Given the description of an element on the screen output the (x, y) to click on. 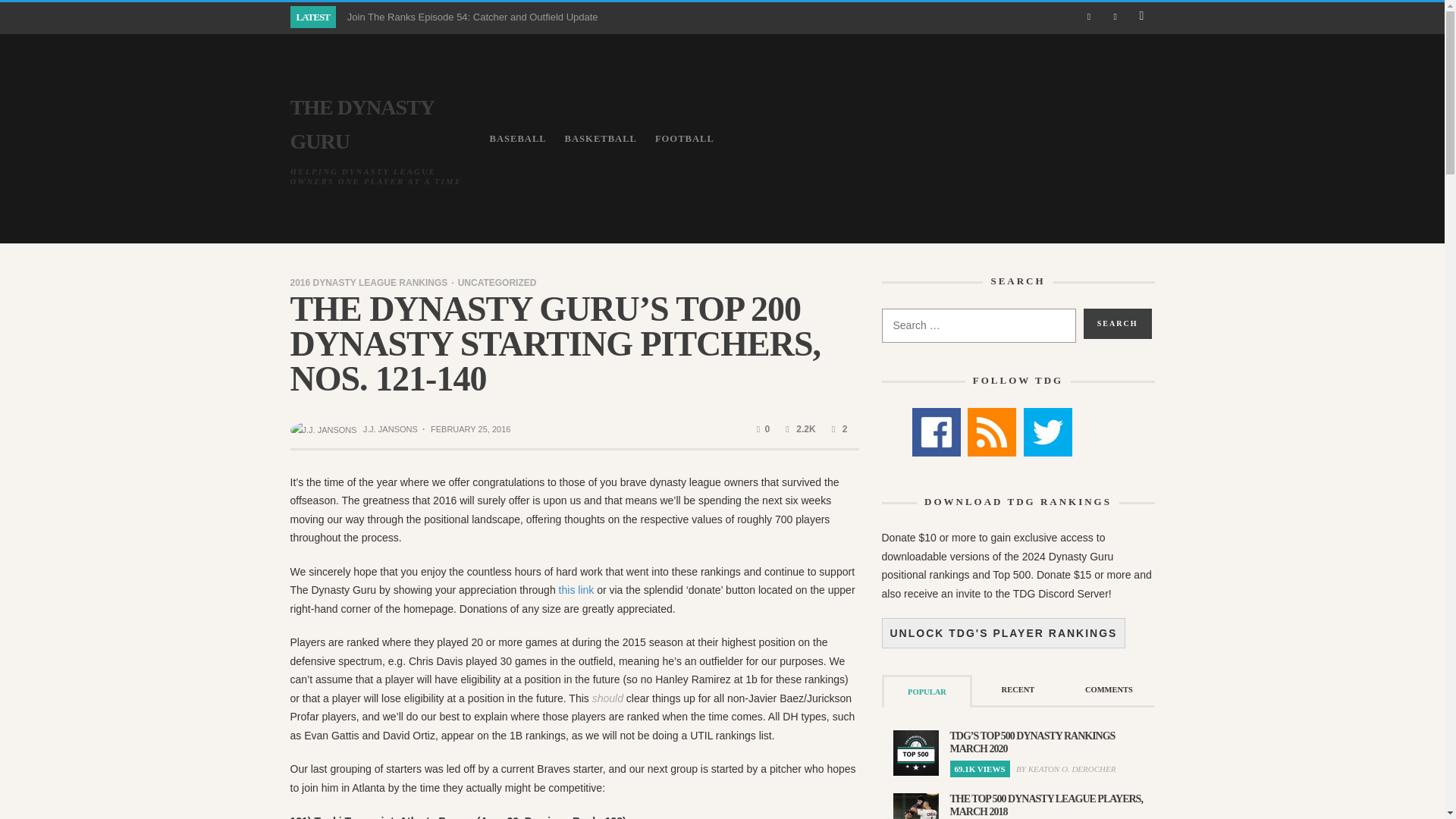
BASEBALL (517, 138)
Join The Ranks Episode 54: Catcher and Outfield Update (472, 16)
Facebook (935, 431)
RSS Feed (992, 431)
FEBRUARY 25, 2016 (470, 429)
Twitter (1047, 431)
UNCATEGORIZED (490, 282)
J.J. JANSONS (389, 429)
Search (1117, 323)
BASKETBALL (601, 138)
Twitter (1114, 16)
2016 DYNASTY LEAGUE RANKINGS (367, 282)
Search (1117, 323)
FOOTBALL (684, 138)
